Given the description of an element on the screen output the (x, y) to click on. 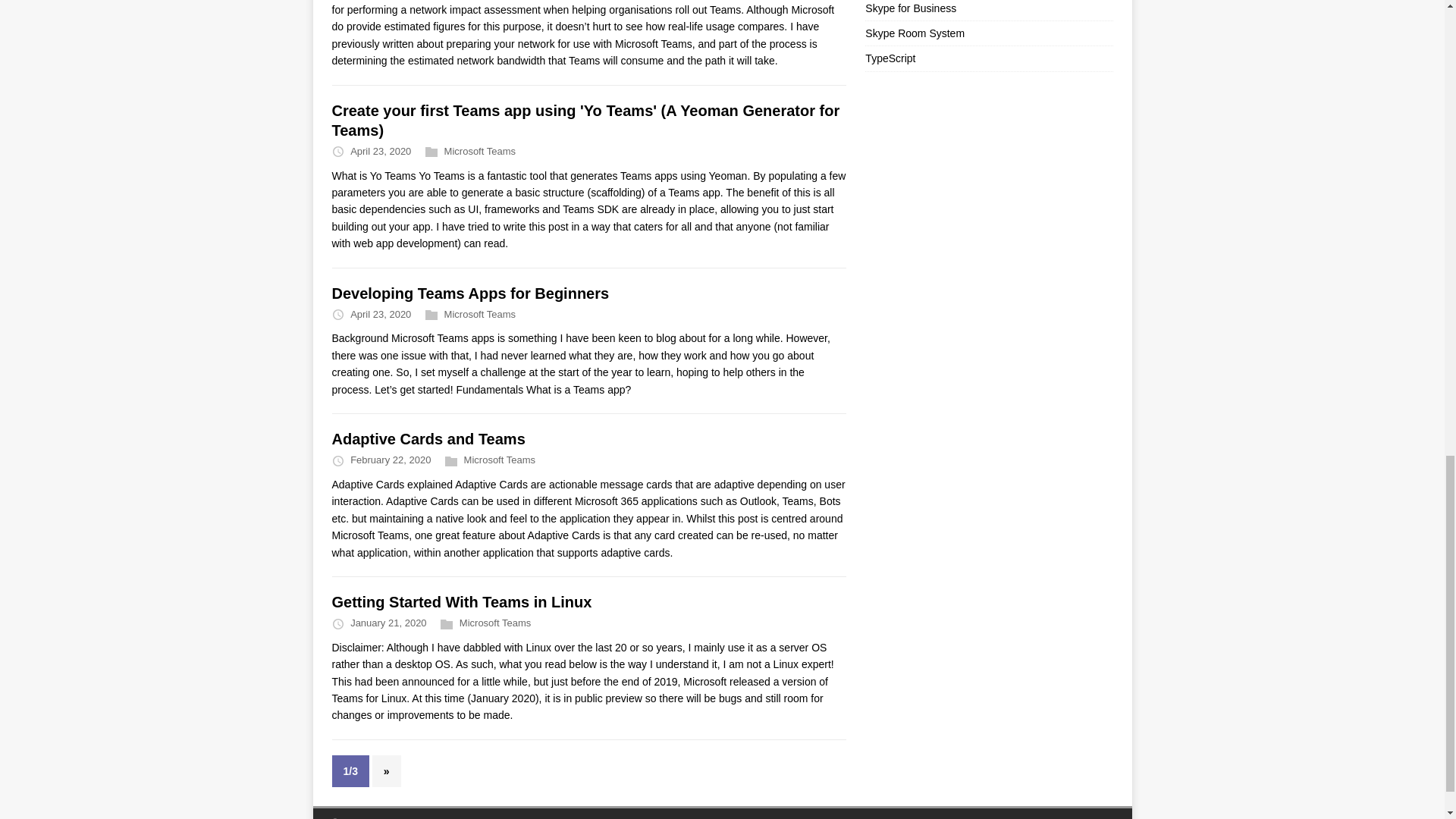
Microsoft Teams (495, 622)
Getting Started With Teams in Linux (461, 601)
Microsoft Teams (479, 314)
Microsoft Teams (499, 460)
Developing Teams Apps for Beginners (470, 293)
Microsoft Teams (479, 151)
Adaptive Cards and Teams (428, 438)
